Given the description of an element on the screen output the (x, y) to click on. 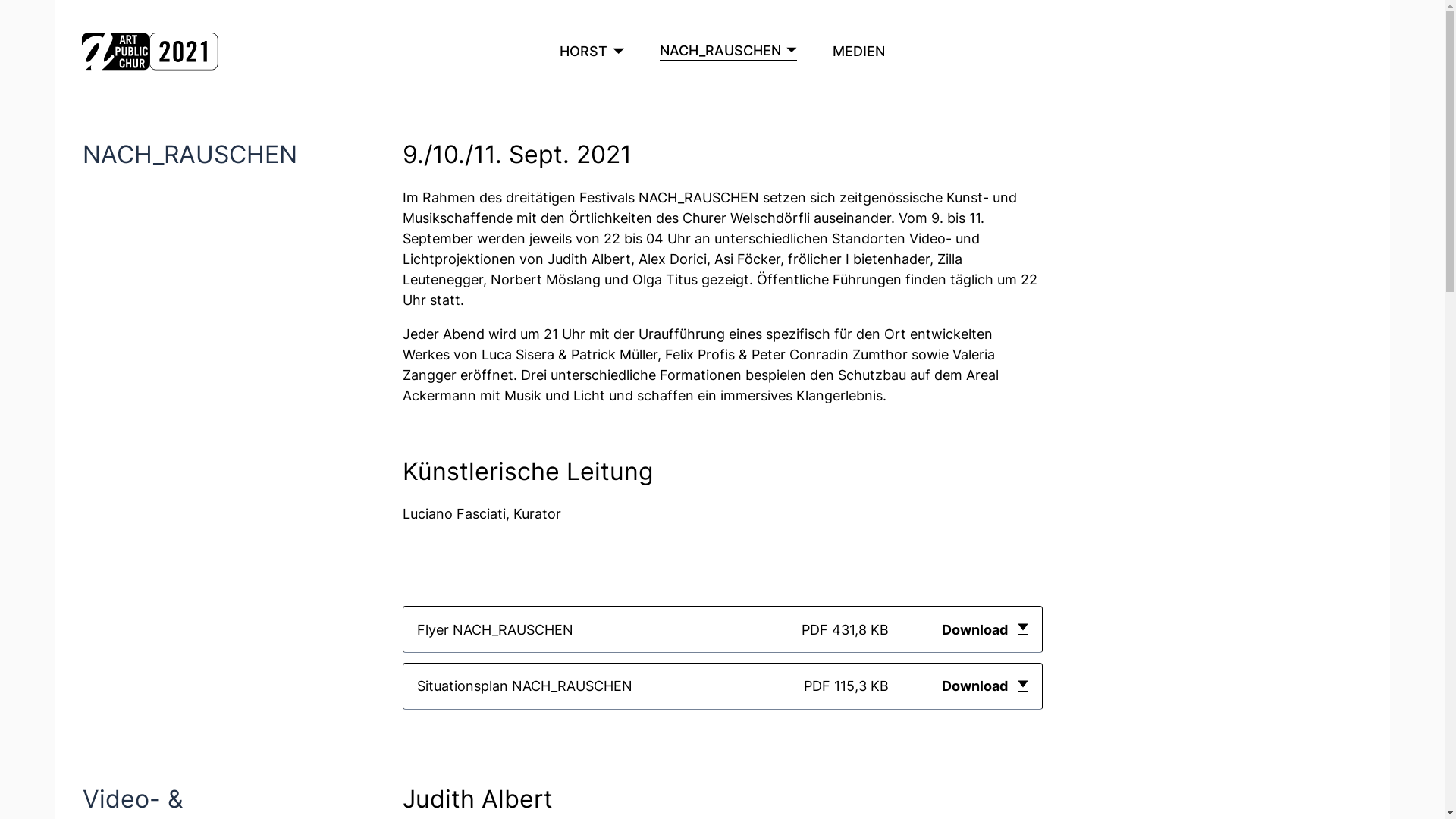
Art-Public 2021 Element type: text (149, 51)
NACH_RAUSCHEN Element type: text (728, 50)
HORST Element type: text (591, 51)
Situationsplan NACH_RAUSCHEN
PDF 115,3 KB
Download Element type: text (721, 685)
Flyer NACH_RAUSCHEN
PDF 431,8 KB
Download Element type: text (721, 628)
MEDIEN Element type: text (858, 51)
